Given the description of an element on the screen output the (x, y) to click on. 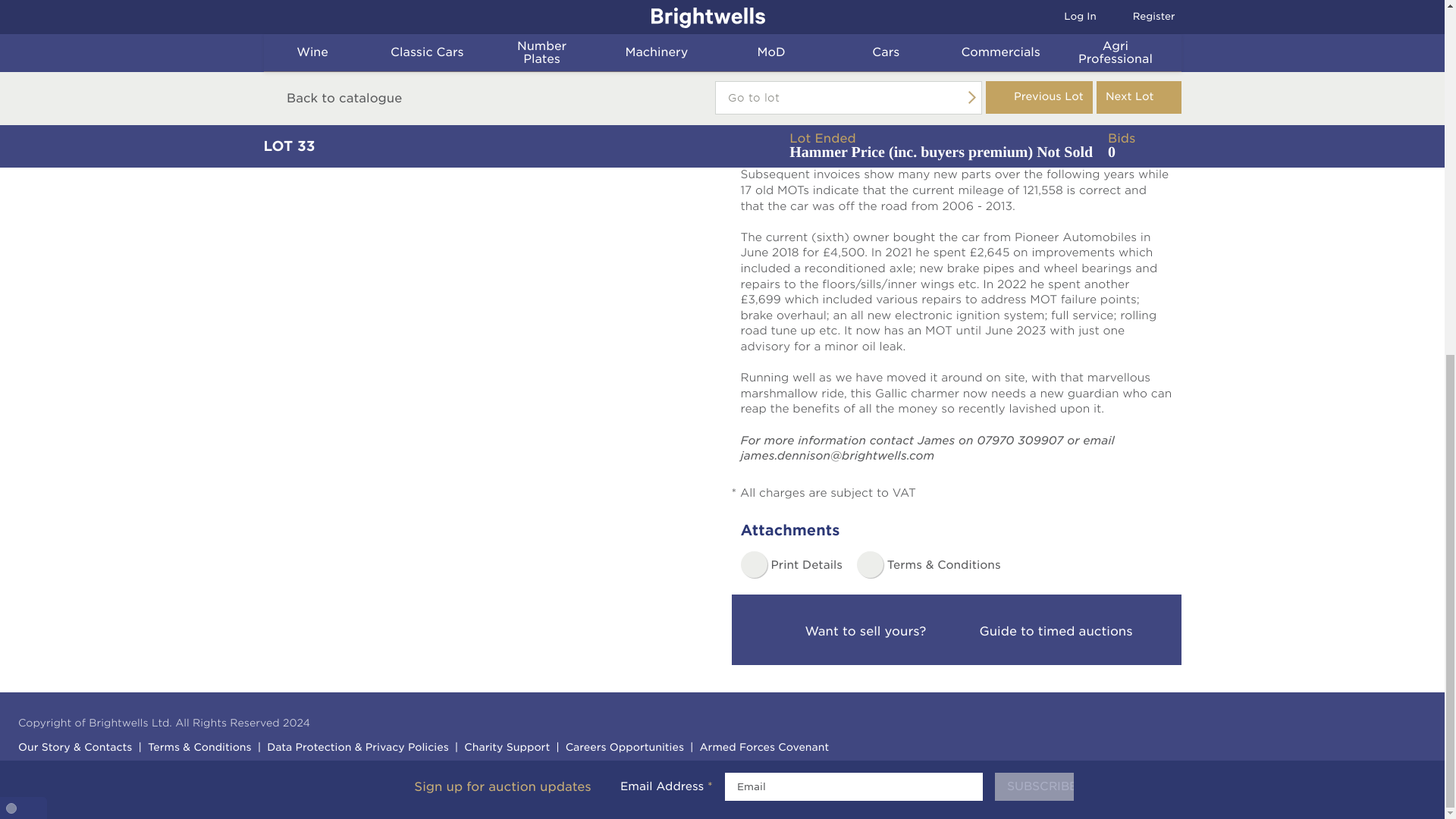
close icon (1424, 158)
Subscribe (1034, 163)
Print details (790, 564)
mailing list icon (389, 165)
